Given the description of an element on the screen output the (x, y) to click on. 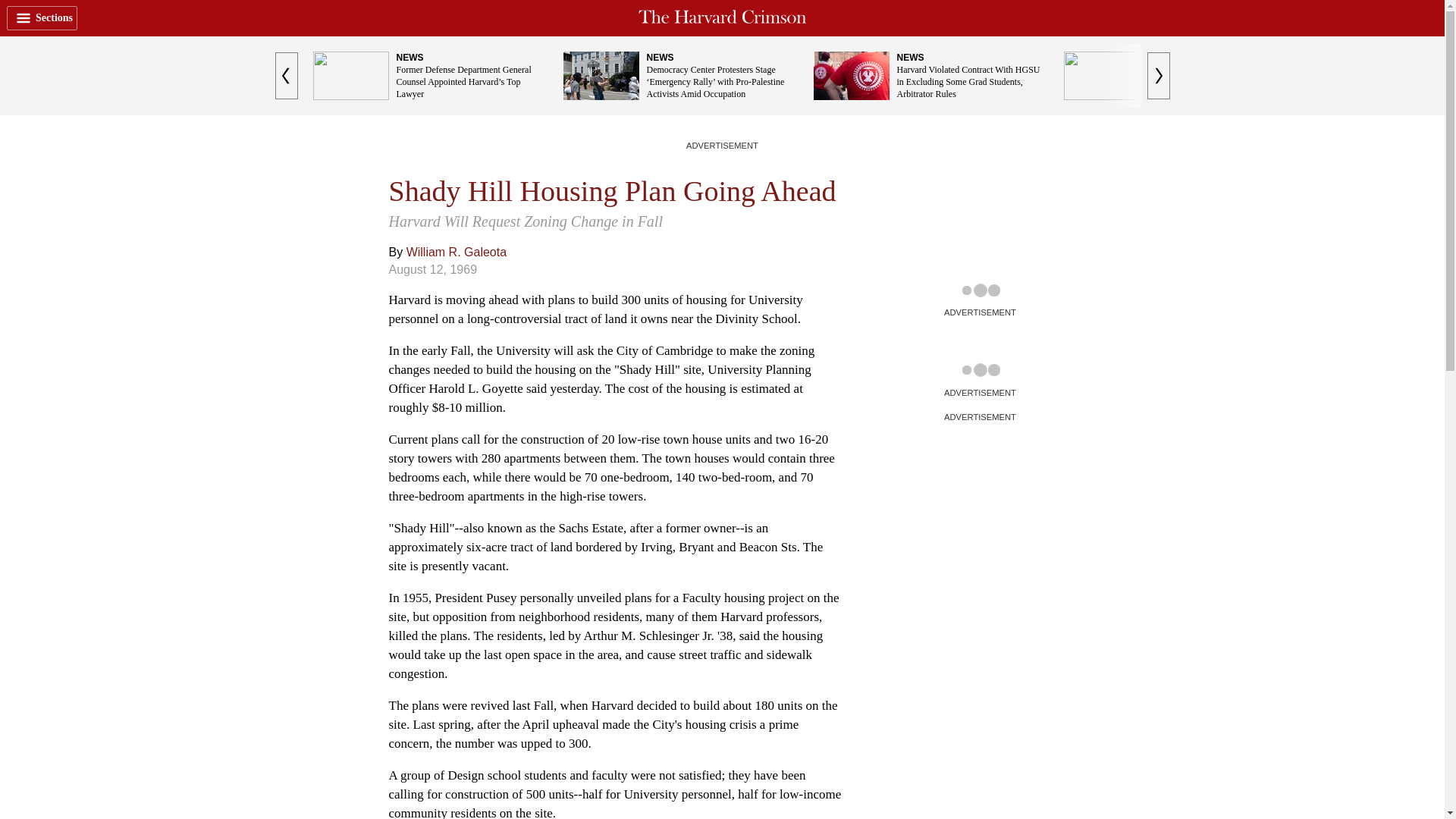
Updated September 28, 2009 at 12:44 am (432, 269)
William R. Galeota (456, 251)
